Given the description of an element on the screen output the (x, y) to click on. 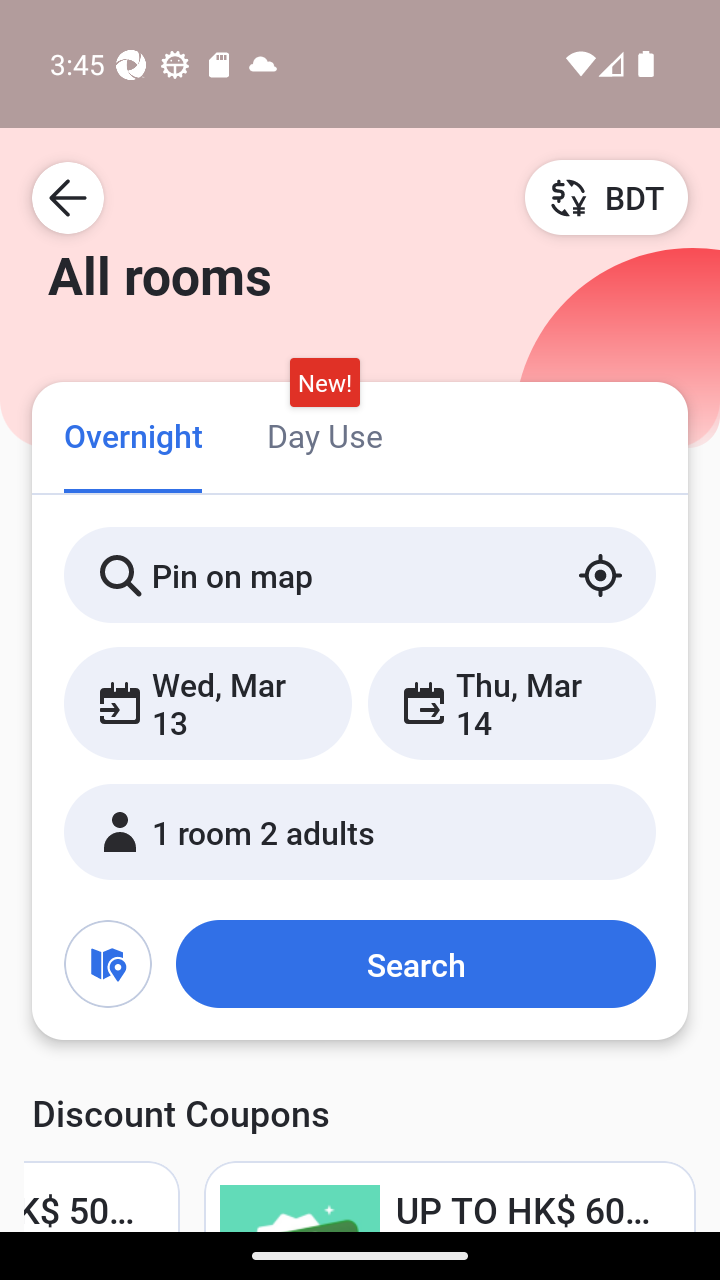
BDT (606, 197)
New! (324, 383)
Day Use (324, 434)
Pin on map (359, 575)
Wed, Mar 13 (208, 703)
Thu, Mar 14 (511, 703)
1 room 2 adults (359, 831)
Search (415, 964)
